Given the description of an element on the screen output the (x, y) to click on. 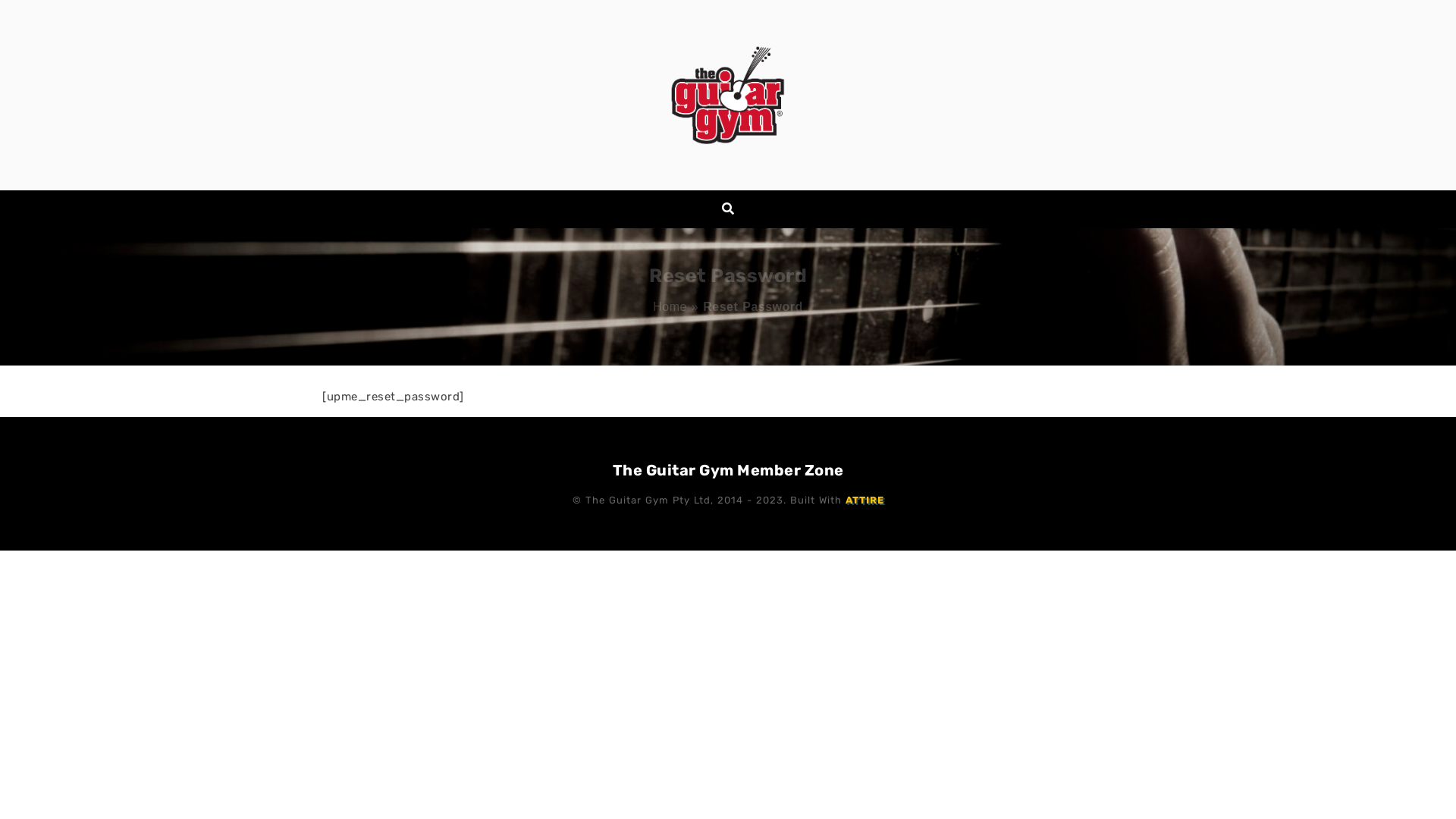
Home Element type: text (669, 306)
The Guitar Gym Member Zone Element type: text (728, 469)
ATTIRE Element type: text (863, 499)
Logo-Guitar-Gym Element type: hover (727, 94)
